Given the description of an element on the screen output the (x, y) to click on. 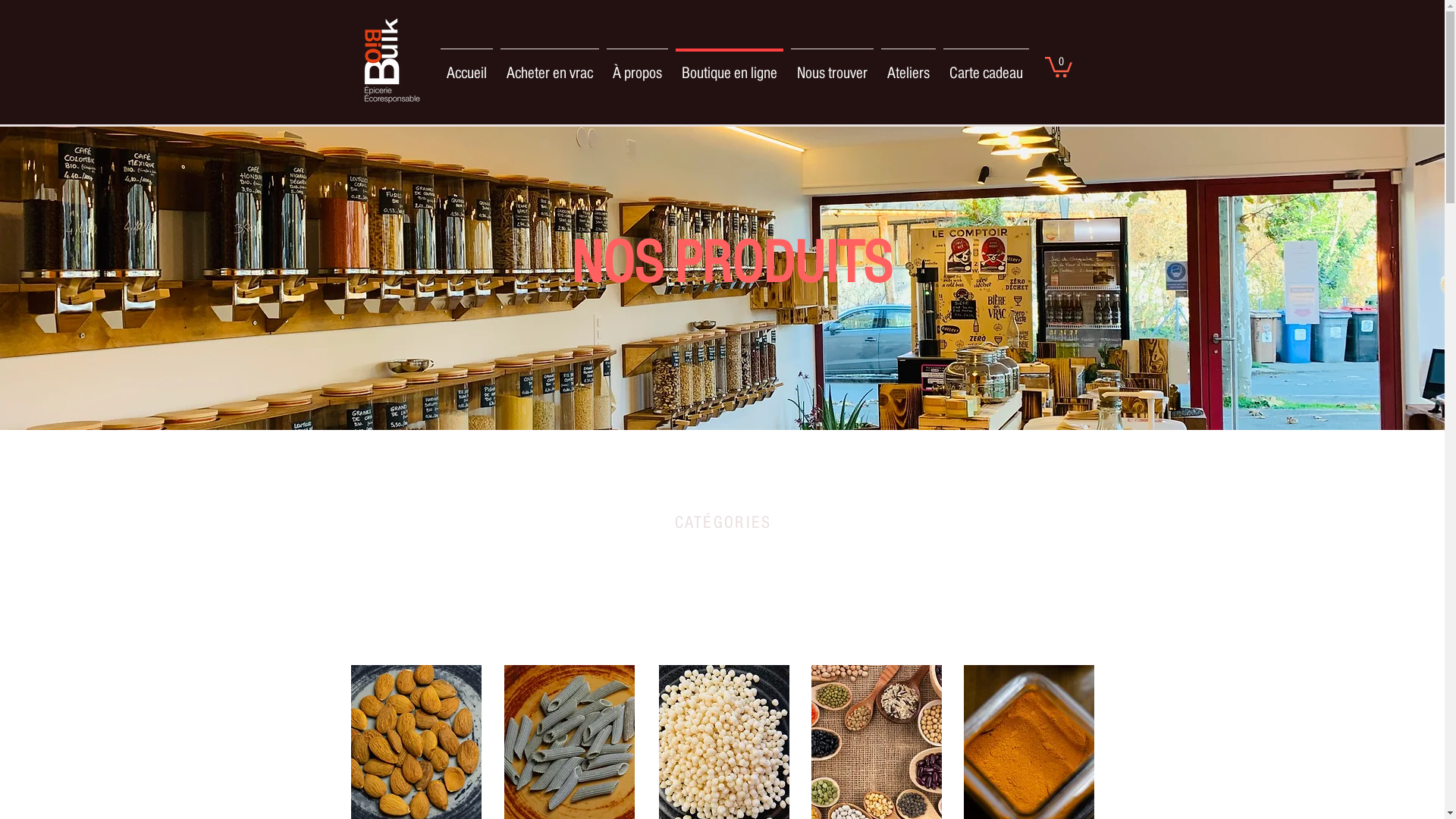
0 Element type: text (1058, 65)
Boutique en ligne Element type: text (729, 66)
Acheter en vrac Element type: text (549, 66)
Carte cadeau Element type: text (985, 66)
Ateliers Element type: text (908, 66)
Accueil Element type: text (466, 66)
Nous trouver Element type: text (832, 66)
